Given the description of an element on the screen output the (x, y) to click on. 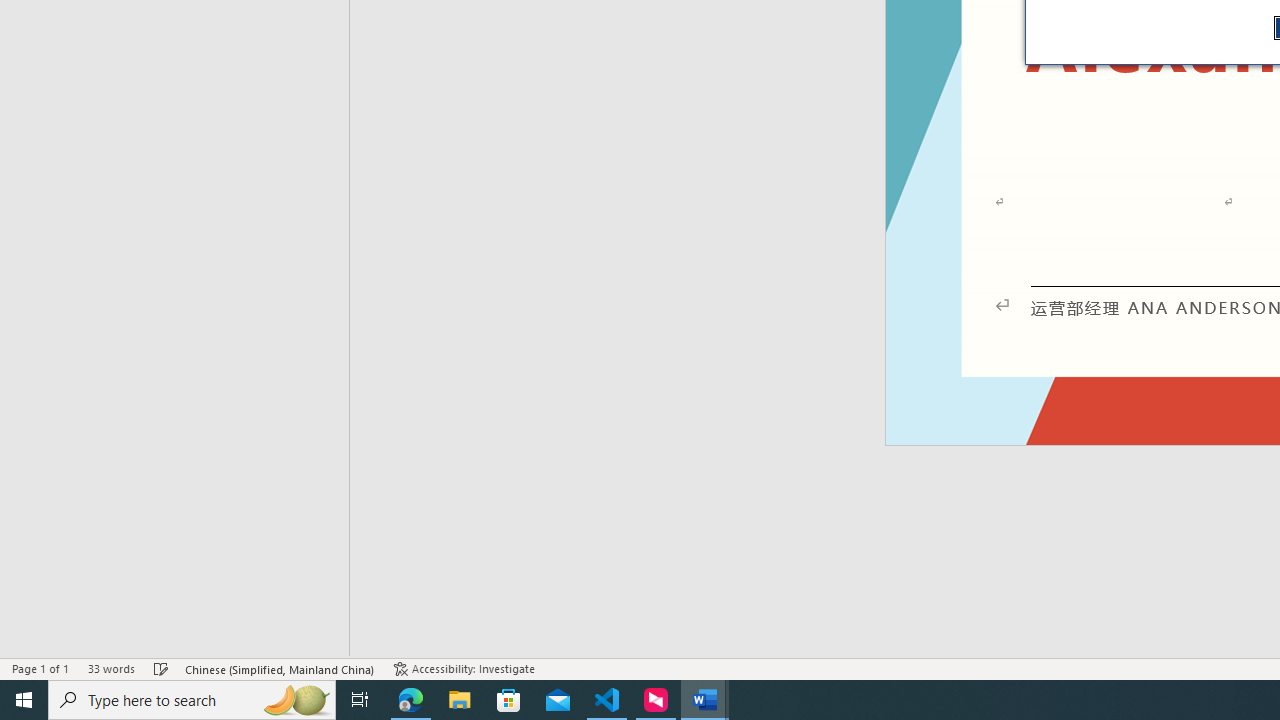
Spelling and Grammar Check Checking (161, 668)
Word - 2 running windows (704, 699)
Task View (359, 699)
Microsoft Store (509, 699)
Search highlights icon opens search home window (295, 699)
Microsoft Edge - 1 running window (411, 699)
Start (24, 699)
Visual Studio Code - 1 running window (607, 699)
Type here to search (191, 699)
Language Chinese (Simplified, Mainland China) (279, 668)
File Explorer (460, 699)
